Given the description of an element on the screen output the (x, y) to click on. 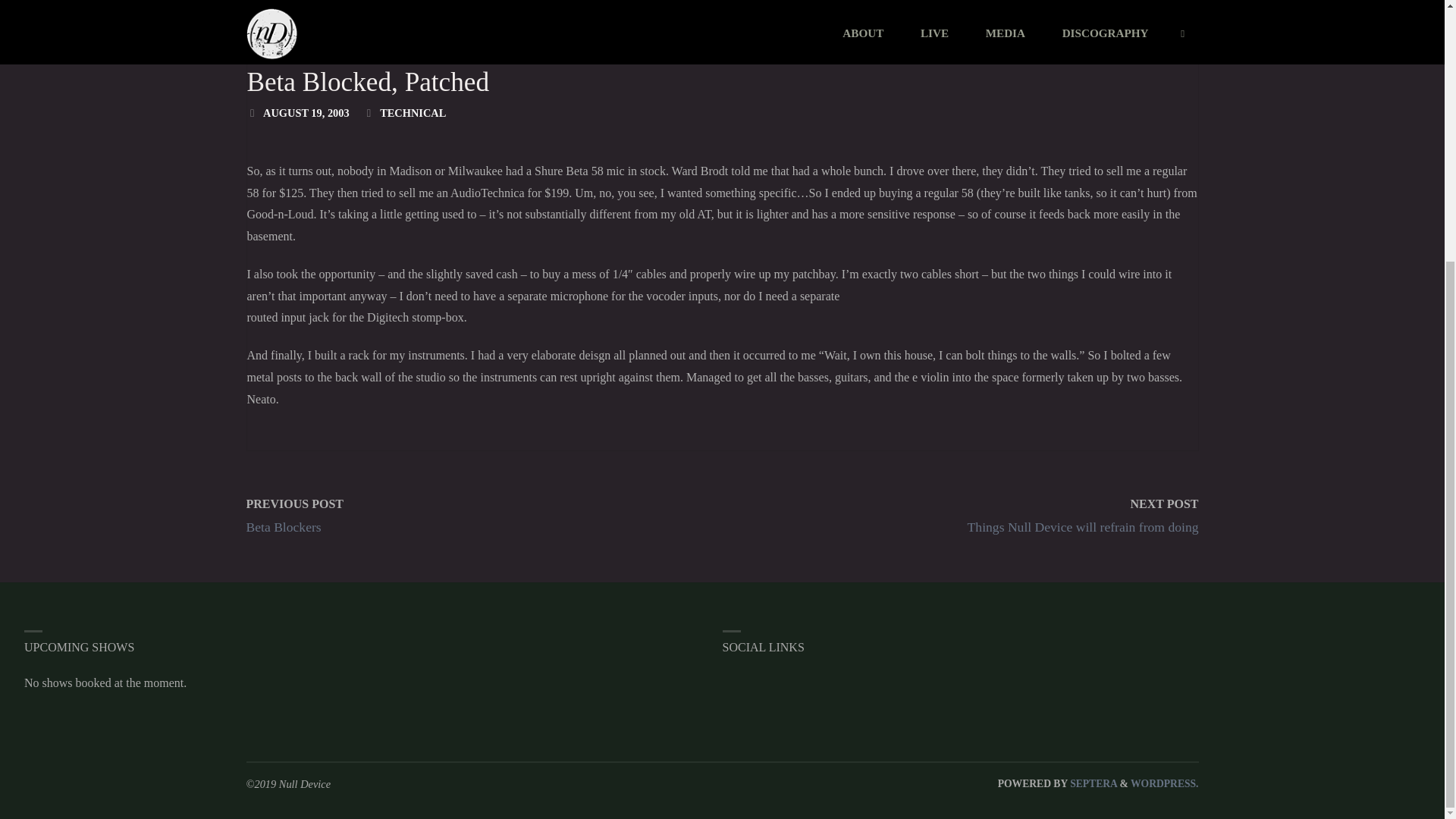
BLOG (292, 8)
HOME (252, 8)
TECHNICAL (412, 112)
WORDPRESS. (1164, 783)
Things Null Device will refrain from doing (1083, 526)
Semantic Personal Publishing Platform (1164, 783)
SEPTERA (1091, 783)
TECHNICAL (360, 8)
Home (252, 8)
Beta Blockers (283, 526)
Categories (368, 112)
Date (252, 112)
Septera WordPress Theme by Cryout Creations (1091, 783)
